Given the description of an element on the screen output the (x, y) to click on. 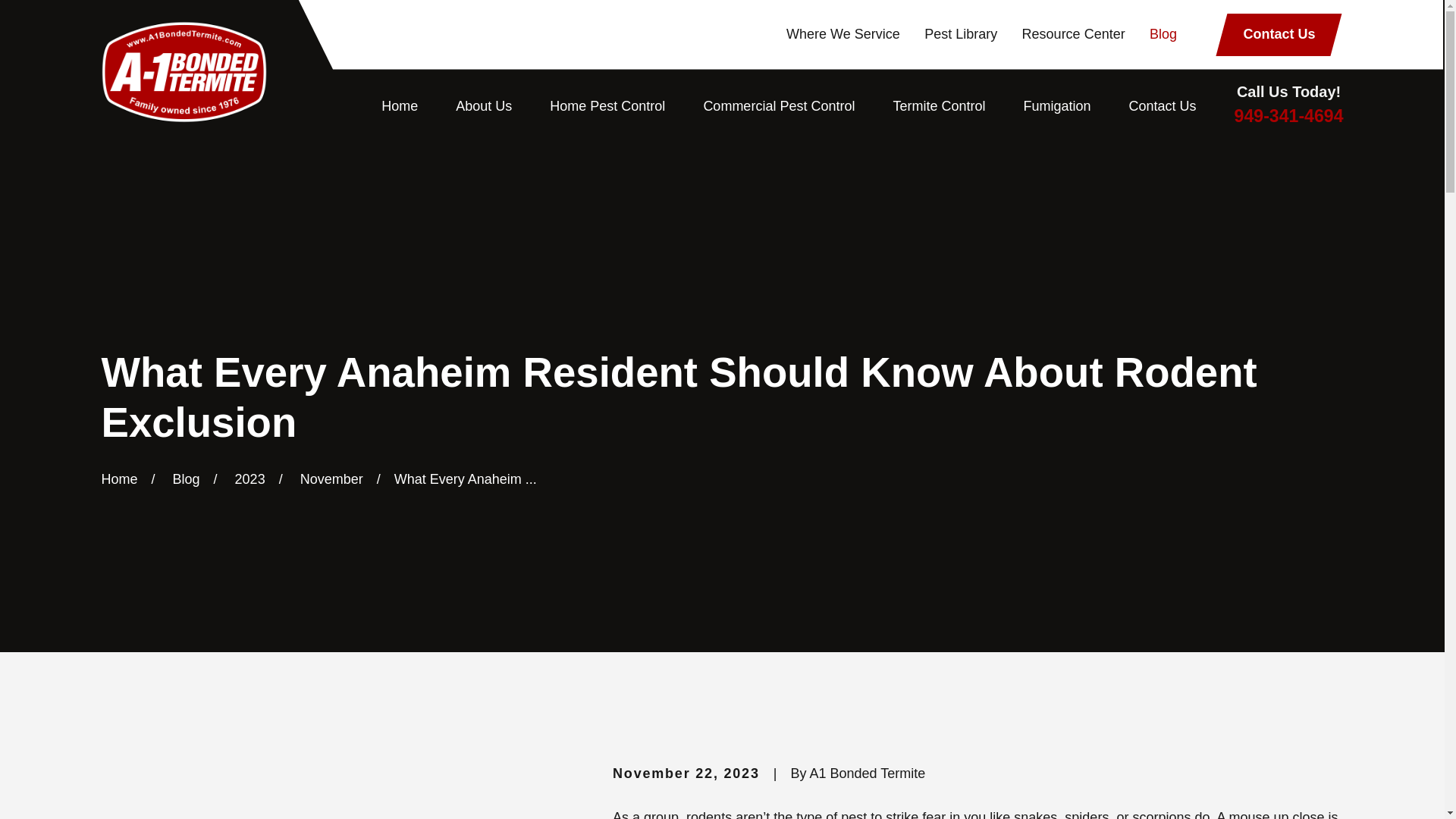
Contact Us (1278, 34)
Home (183, 71)
About Us (483, 106)
Termite Control (938, 106)
Contact Us (1162, 106)
Home Pest Control (607, 106)
Go Home (118, 478)
Resource Center (1073, 33)
Fumigation (1056, 106)
Blog (1163, 33)
Where We Service (842, 33)
Commercial Pest Control (778, 106)
Pest Library (960, 33)
